Given the description of an element on the screen output the (x, y) to click on. 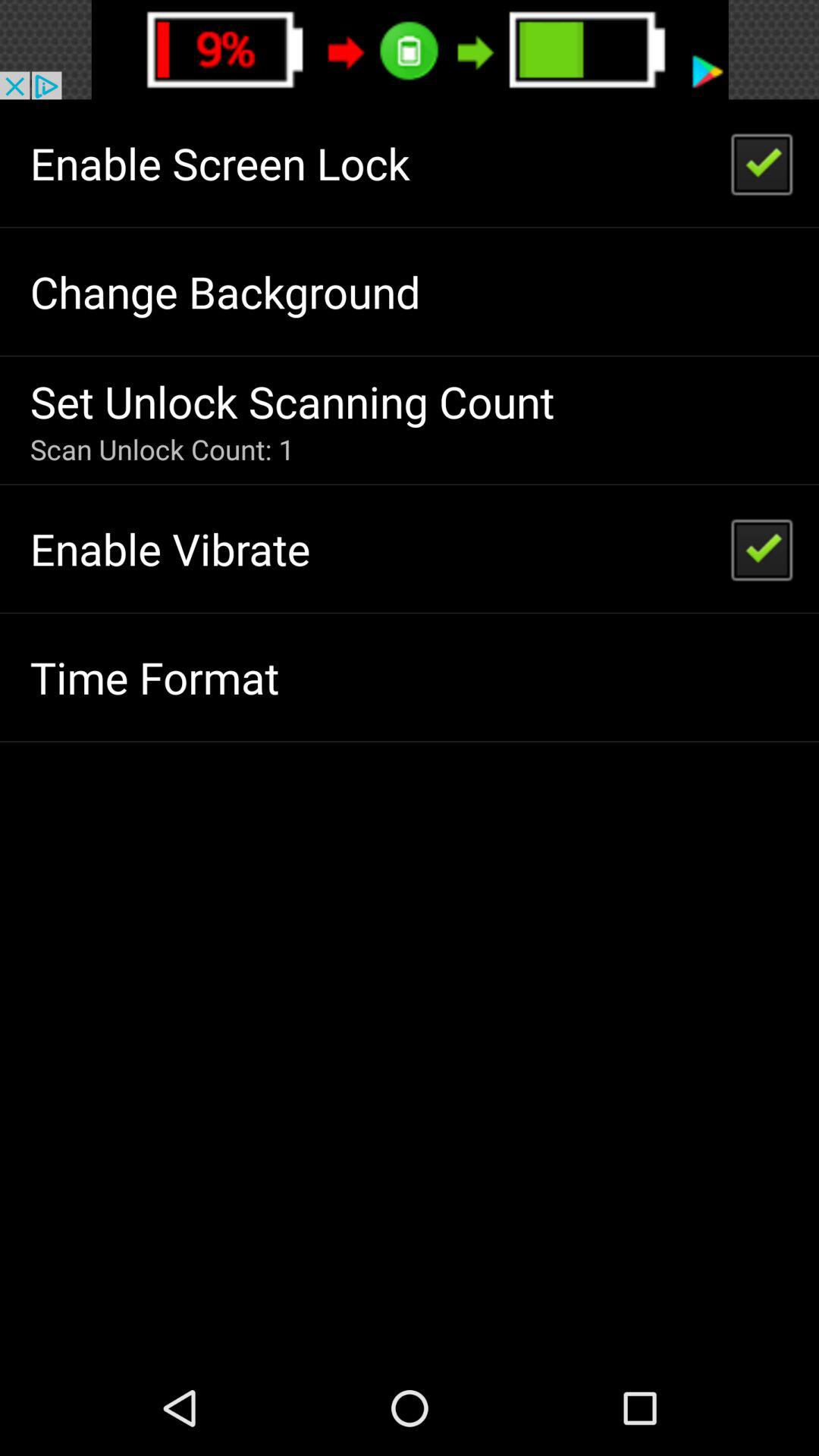
open advertisement (409, 49)
